Given the description of an element on the screen output the (x, y) to click on. 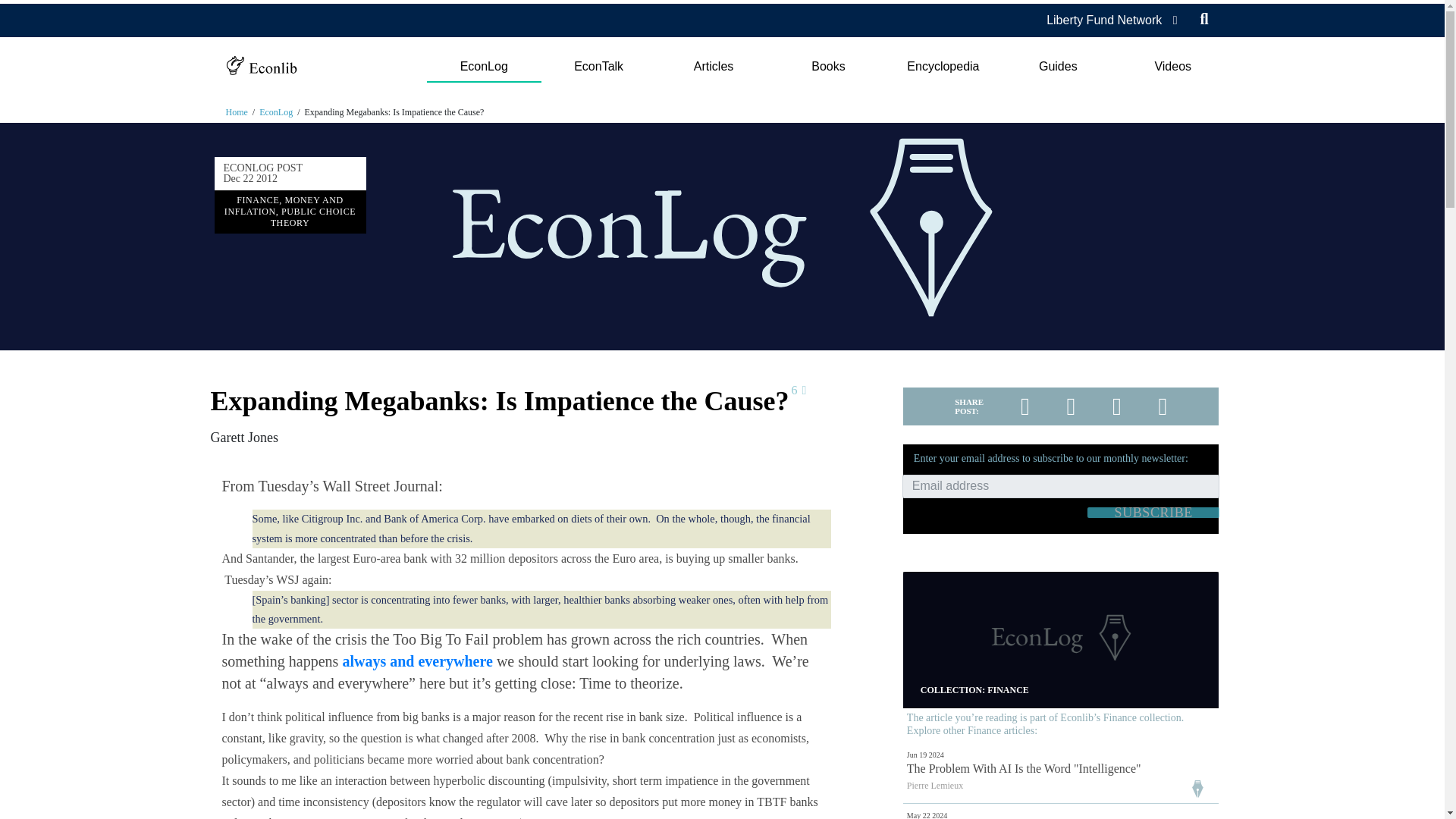
Encyclopedia (942, 66)
EconTalk (598, 66)
Garett Jones (244, 437)
Subscribe (1153, 511)
Articles (713, 66)
Books (828, 66)
Liberty Fund Network (1104, 20)
EconLog (483, 67)
